Given the description of an element on the screen output the (x, y) to click on. 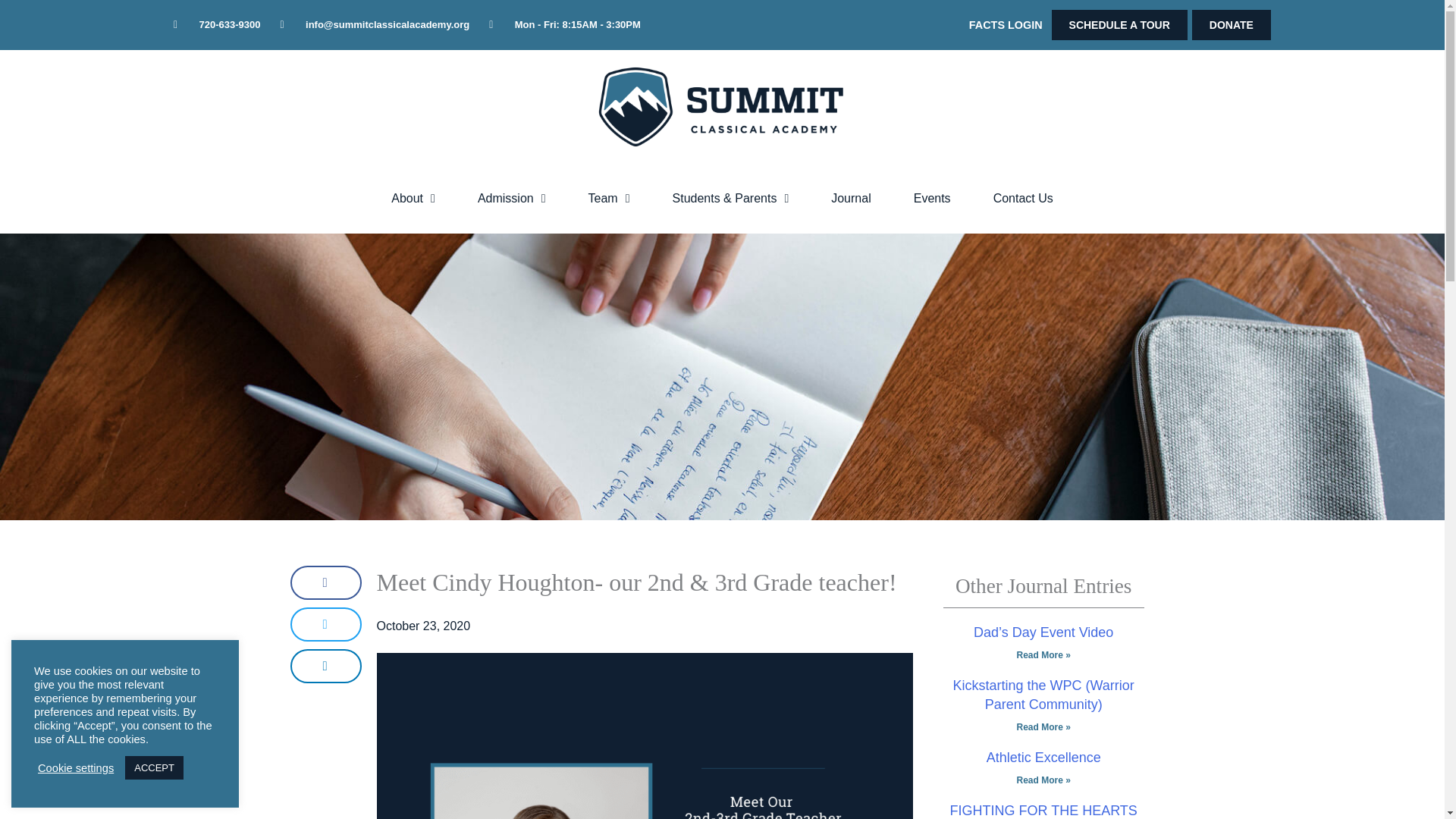
Contact Us (1023, 198)
DONATE (1231, 24)
SCHEDULE A TOUR (1119, 24)
FACTS LOGIN (1005, 24)
Events (932, 198)
Admission (512, 198)
Team (608, 198)
720-633-9300 (216, 24)
About (413, 198)
Journal (850, 198)
